Given the description of an element on the screen output the (x, y) to click on. 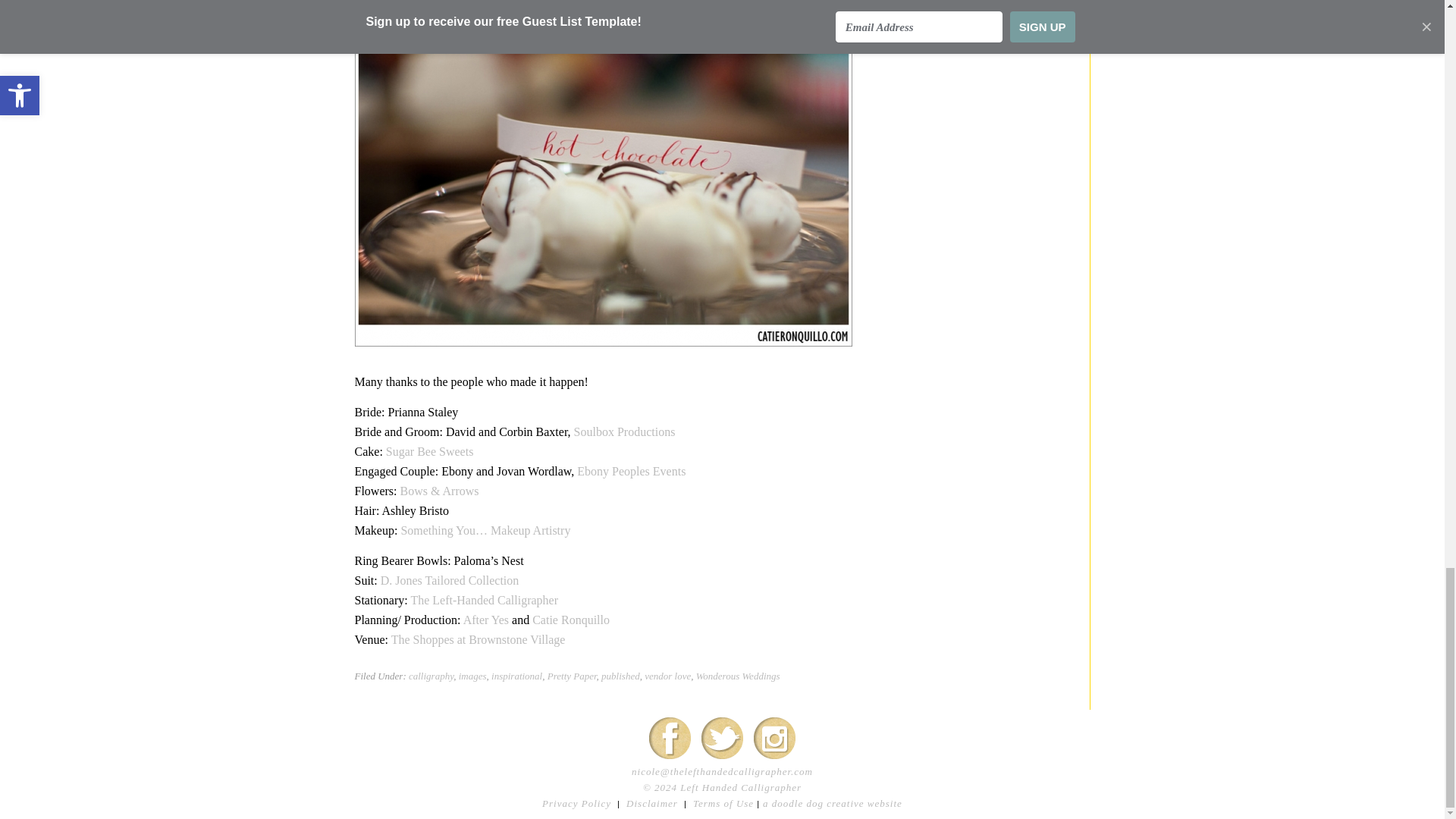
D. Jones (449, 580)
catie ronquillo (571, 619)
after yes (485, 619)
bows and arrows (439, 490)
something you (485, 530)
soulbox (624, 431)
the left handed calligrapher (483, 599)
sugar bee sweets (429, 451)
shoppes at brownstone (478, 639)
ebony peoples (630, 471)
